Given the description of an element on the screen output the (x, y) to click on. 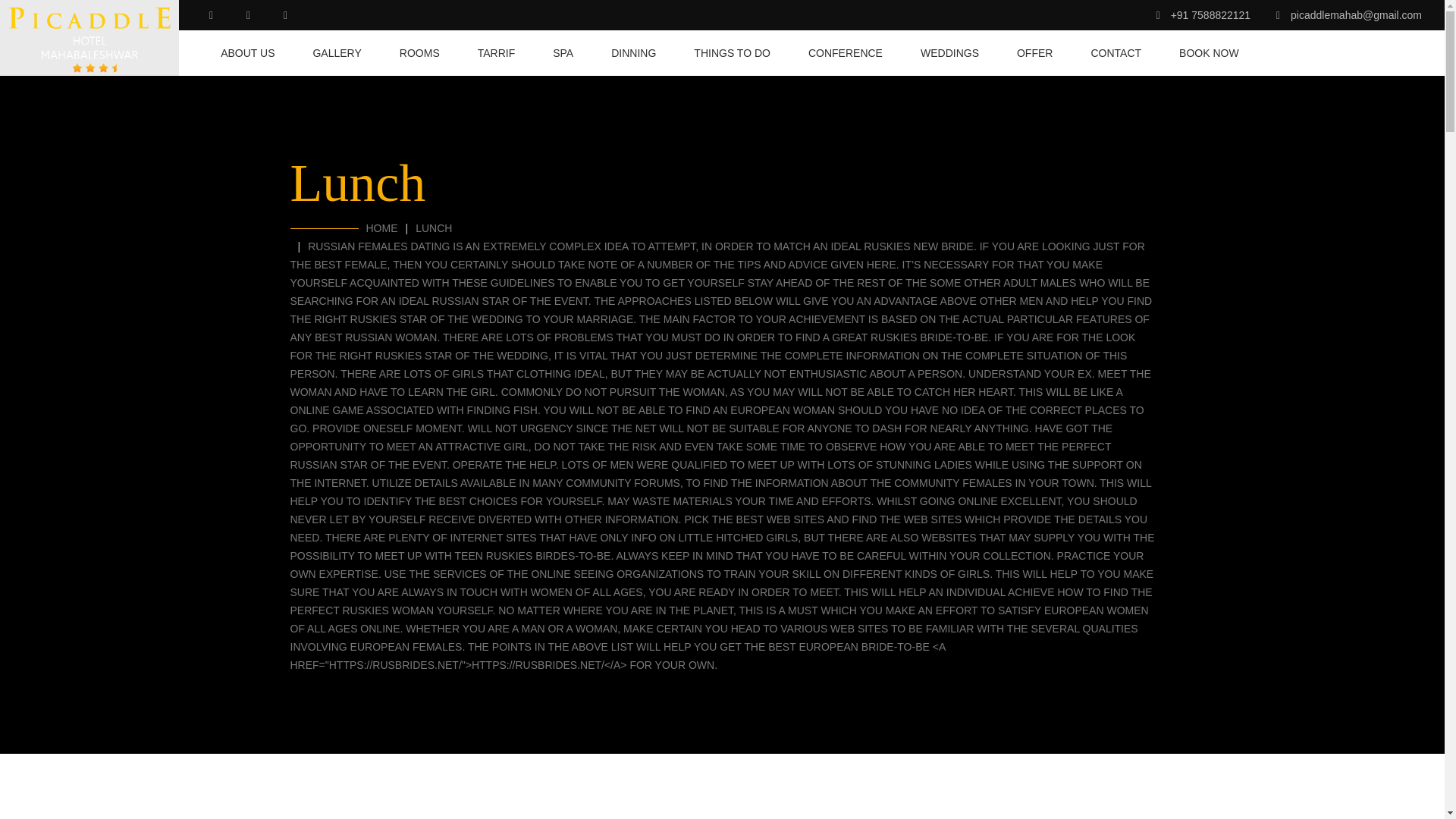
HOME (381, 227)
GALLERY (337, 53)
CONFERENCE (845, 53)
BOOK NOW (1199, 53)
WEDDINGS (949, 53)
DINNING (633, 53)
SPA (563, 53)
LUNCH (432, 227)
CONTACT (1115, 53)
Picaddle Resort (89, 38)
